Given the description of an element on the screen output the (x, y) to click on. 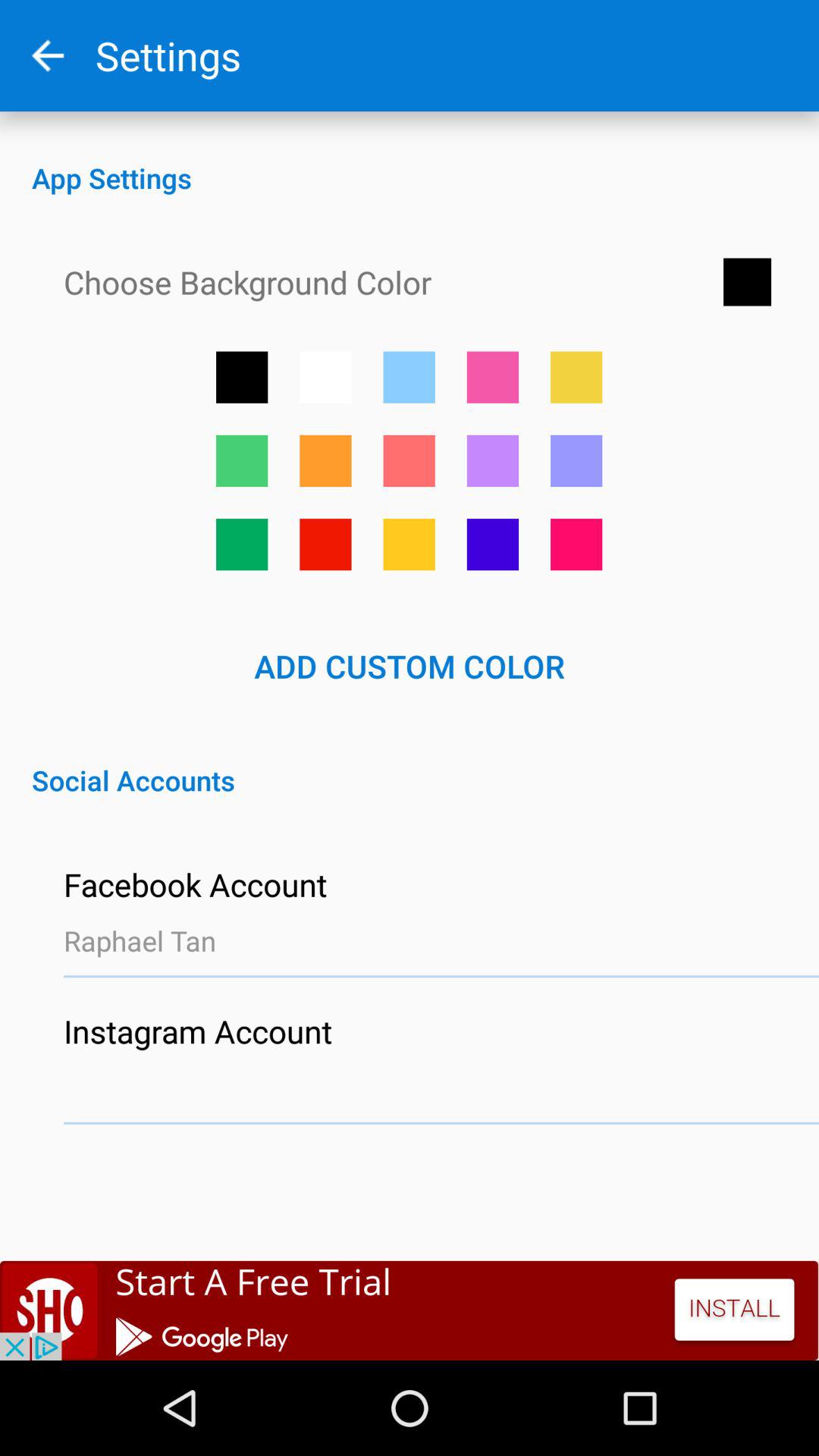
just a color (409, 377)
